Given the description of an element on the screen output the (x, y) to click on. 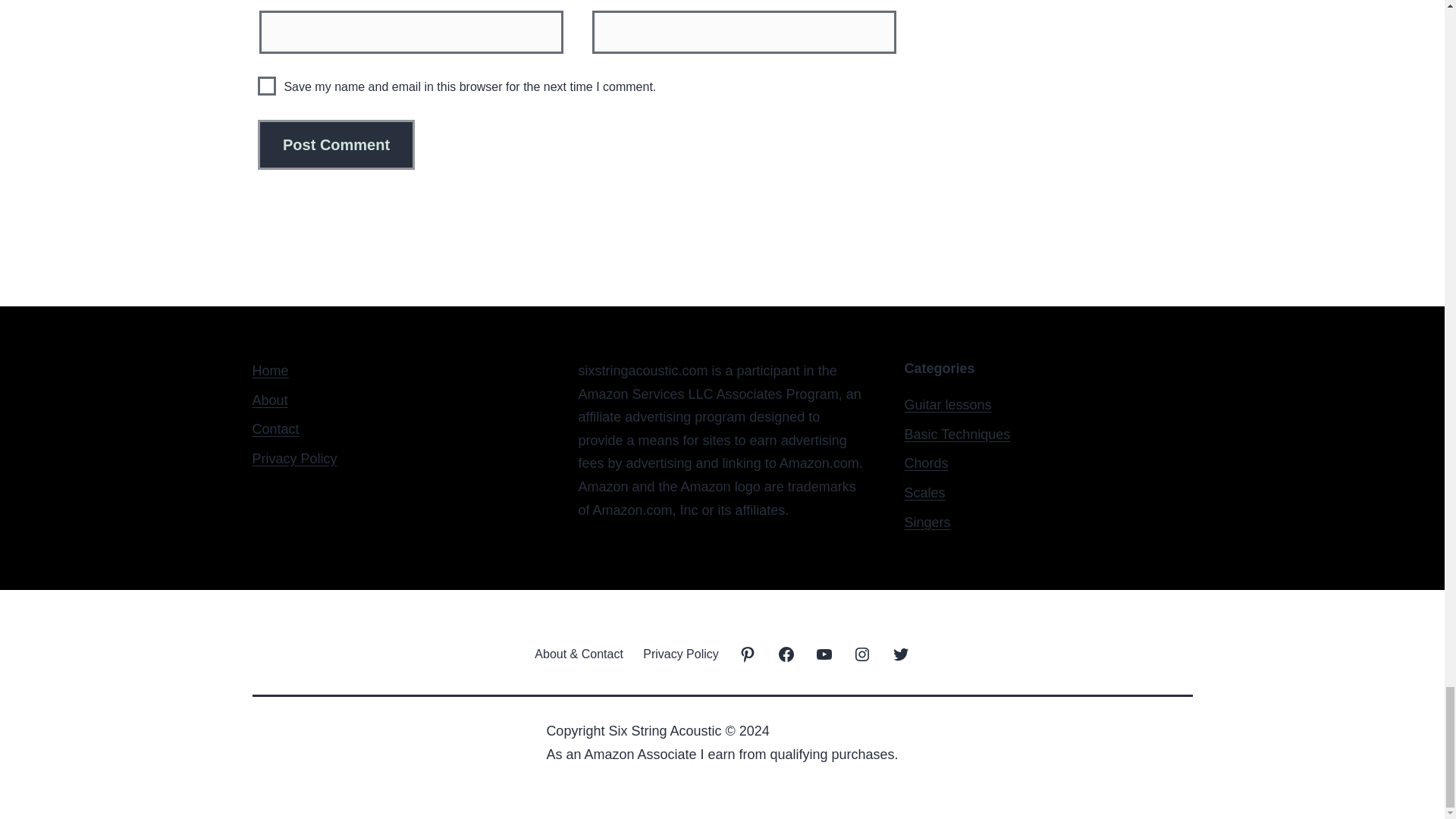
yes (266, 85)
Post Comment (335, 144)
